Given the description of an element on the screen output the (x, y) to click on. 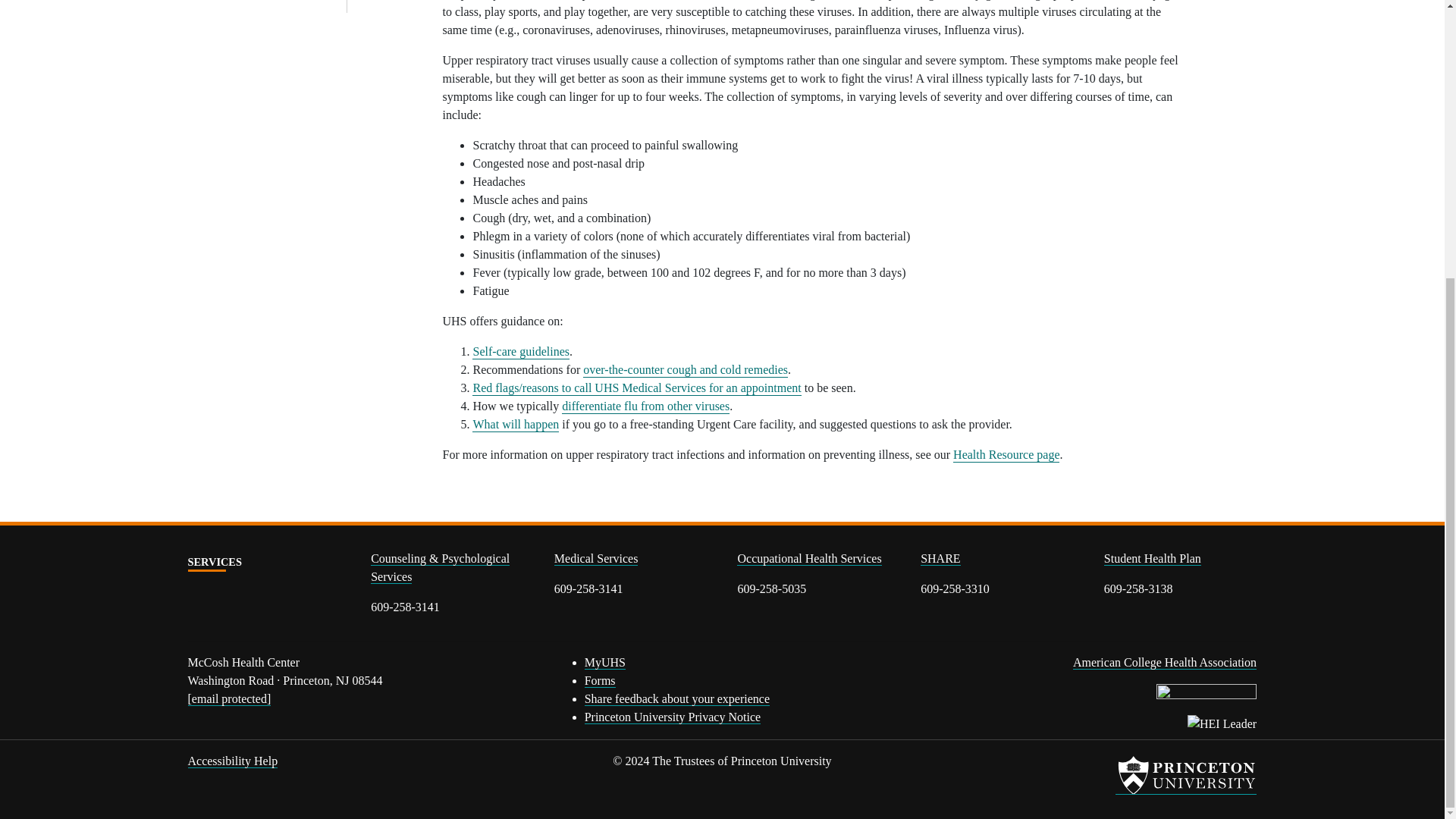
Princeton University (1185, 773)
